Given the description of an element on the screen output the (x, y) to click on. 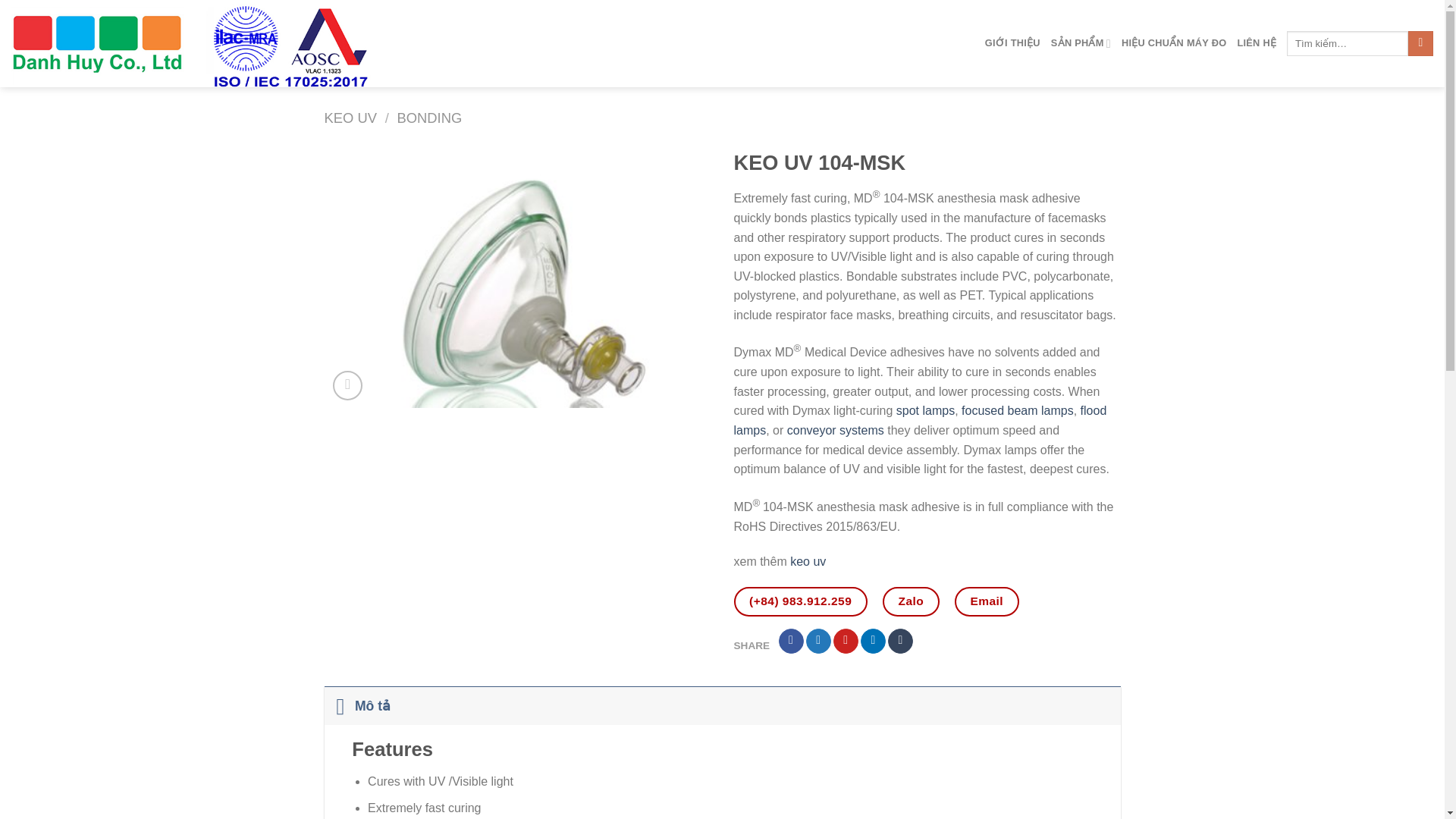
conveyor systems (835, 430)
BONDING (428, 117)
Dymax (226, 43)
spot lamps (925, 410)
focused beam lamps (1017, 410)
Dymax Light-Curing Flood Lamp Systems (919, 420)
Dymax Light-Curing Focused-Beam Lamp (1017, 410)
keo uv (807, 561)
KEO UV (350, 117)
Dymax Light-Curing Spot Lamp Systems (925, 410)
Dymax Light-Curing Conveyor Systems (835, 430)
flood lamps (919, 420)
Keo UV 104-MSK (517, 278)
